Given the description of an element on the screen output the (x, y) to click on. 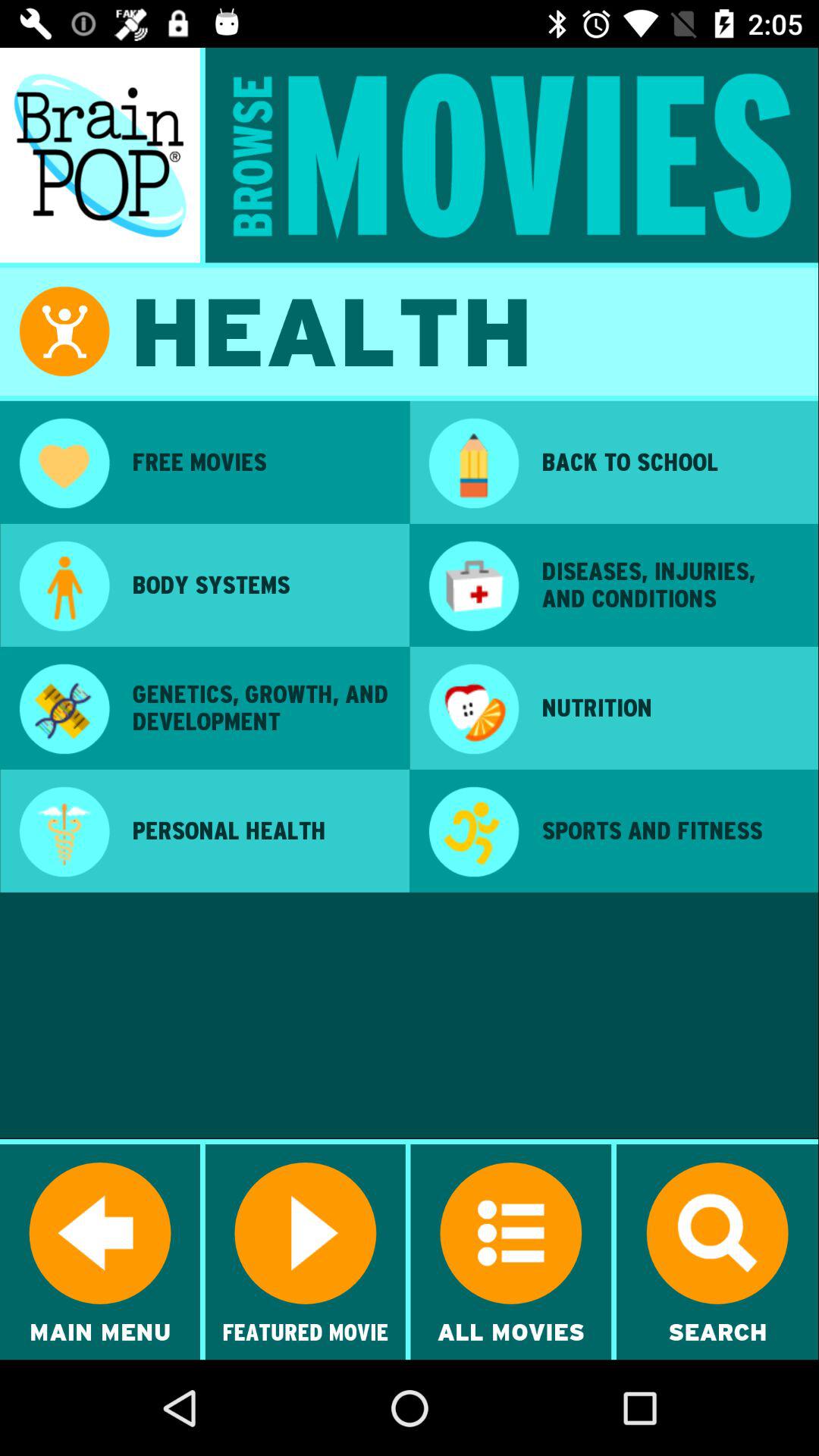
tap icon to the left of nutrition app (473, 710)
